Given the description of an element on the screen output the (x, y) to click on. 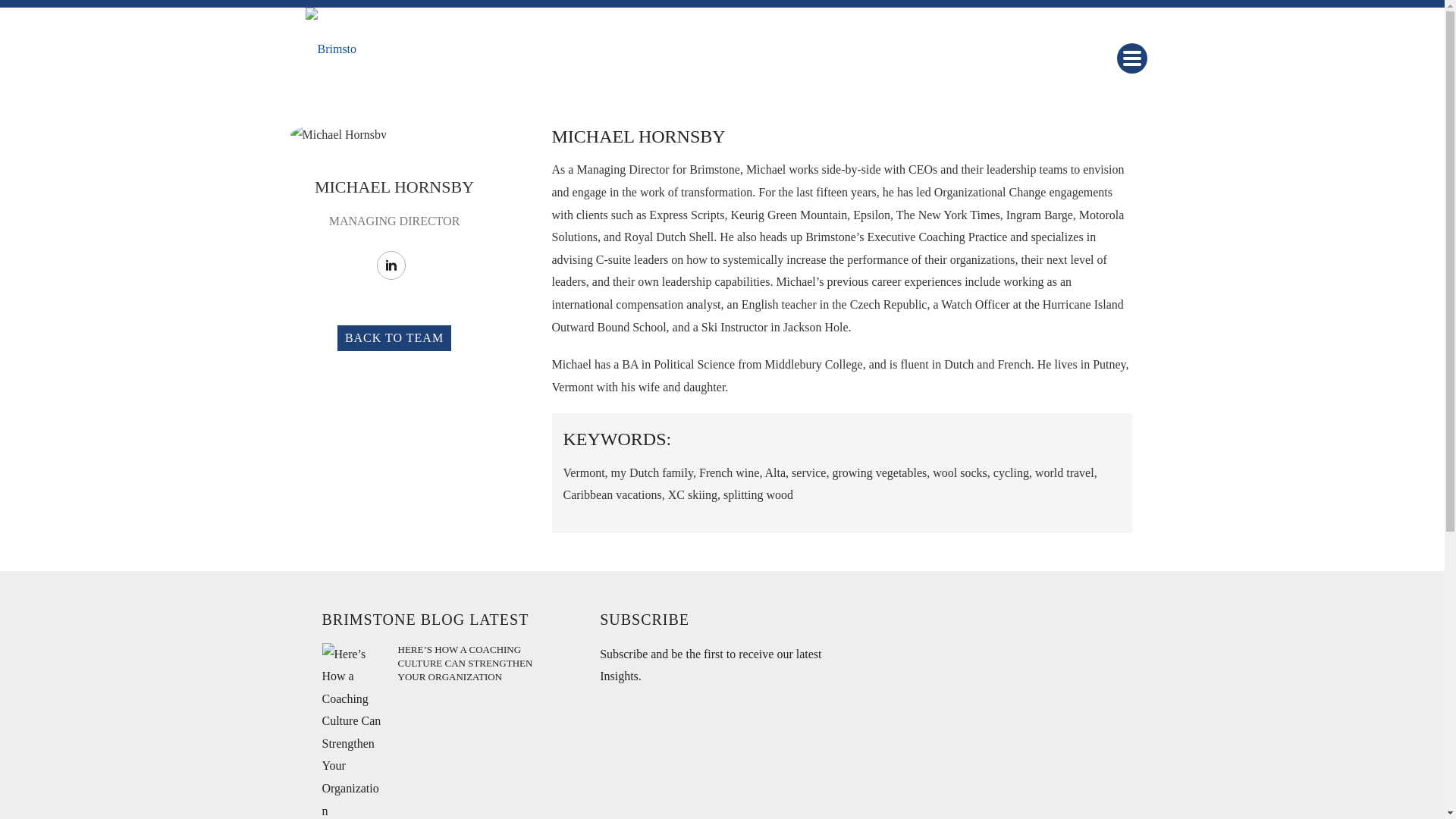
Michael Hornsby (338, 134)
BACK TO TEAM (393, 338)
Michael Hornsby On Linked In (389, 265)
